Given the description of an element on the screen output the (x, y) to click on. 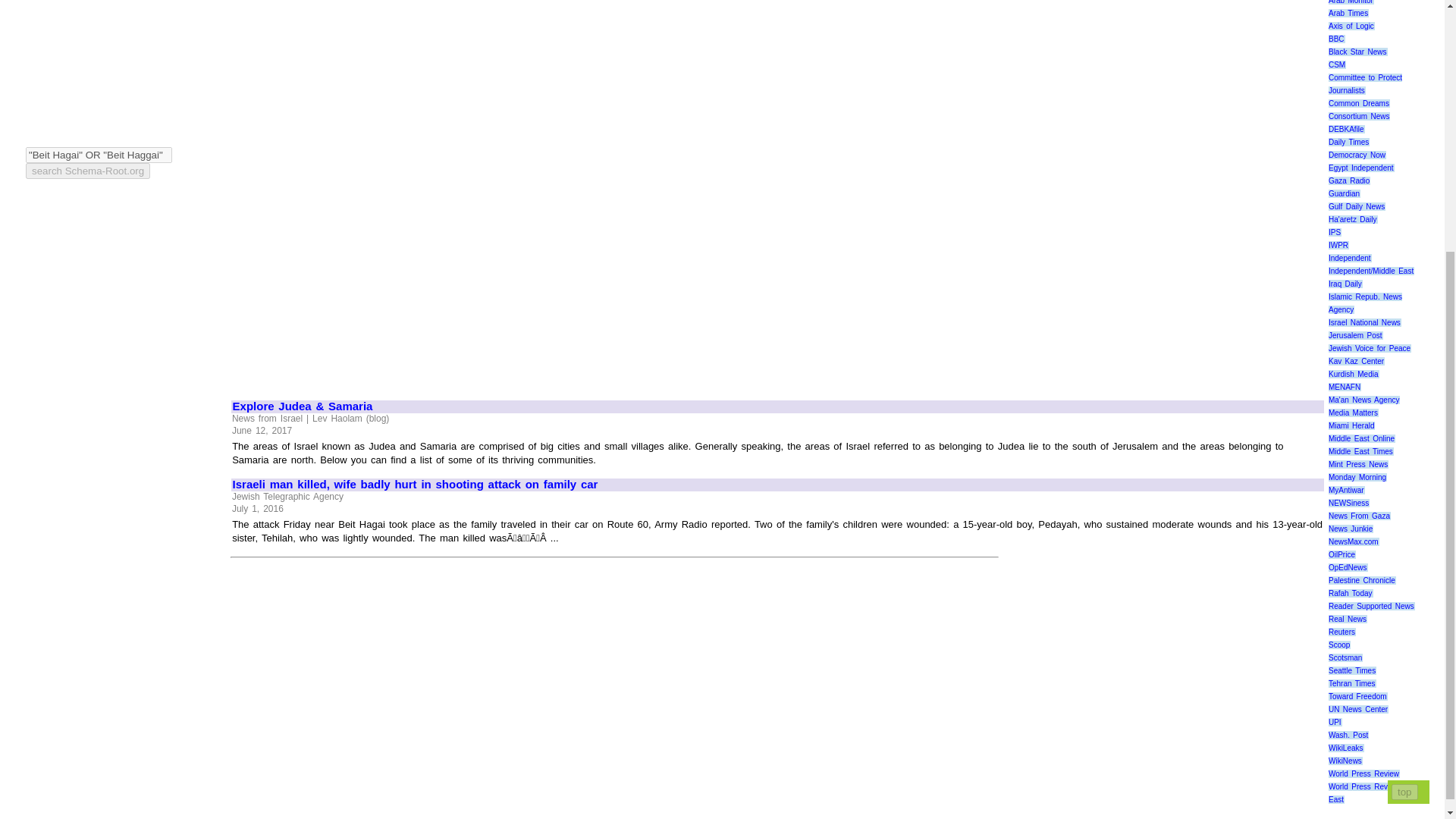
Islamic Repub. News Agency (1364, 302)
CSM (1336, 64)
Committee to Protect Journalists (1364, 84)
Israel National News (1363, 322)
Black Star News (1357, 51)
Axis of Logic (1350, 26)
IPS (1333, 232)
Daily Times (1348, 142)
search Schema-Root.org (87, 170)
Arab Monitor (1350, 2)
